Given the description of an element on the screen output the (x, y) to click on. 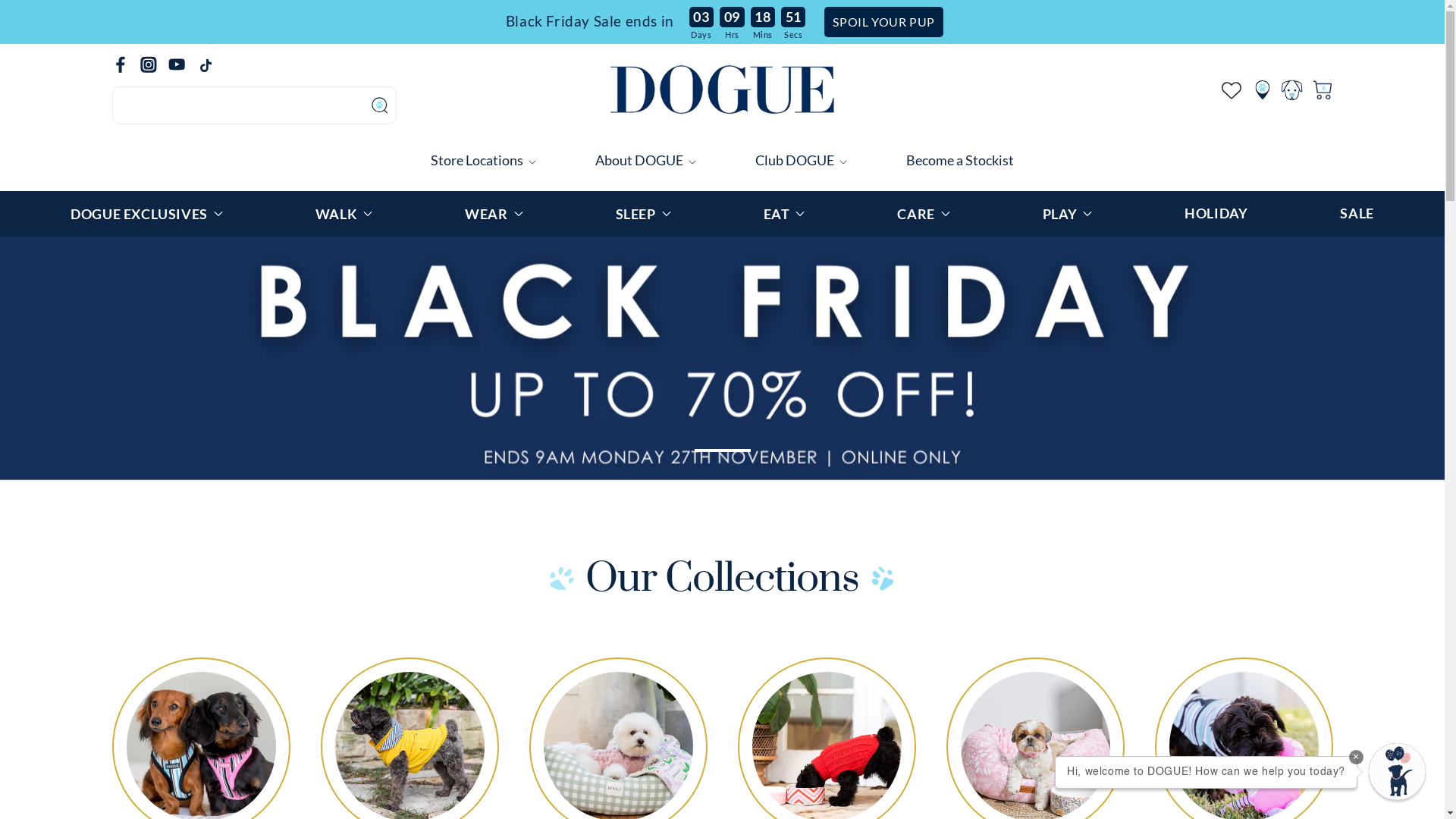
DOGUE EXCLUSIVES Element type: text (146, 213)
CARE Element type: text (923, 213)
About DOGUE Element type: text (639, 159)
TikTok Element type: text (210, 65)
Become a Stockist Element type: text (959, 159)
HOLIDAY Element type: text (1215, 213)
EAT Element type: text (784, 213)
SALE Element type: text (1356, 213)
WALK Element type: text (343, 213)
YouTube Element type: text (182, 64)
Facebook Element type: text (126, 64)
Instagram Element type: text (153, 64)
Store Locations Element type: text (476, 159)
Club DOGUE Element type: text (794, 159)
WEAR Element type: text (493, 213)
SLEEP Element type: text (643, 213)
PLAY Element type: text (1067, 213)
SPOIL YOUR PUP Element type: text (883, 21)
1 Element type: text (722, 449)
